Given the description of an element on the screen output the (x, y) to click on. 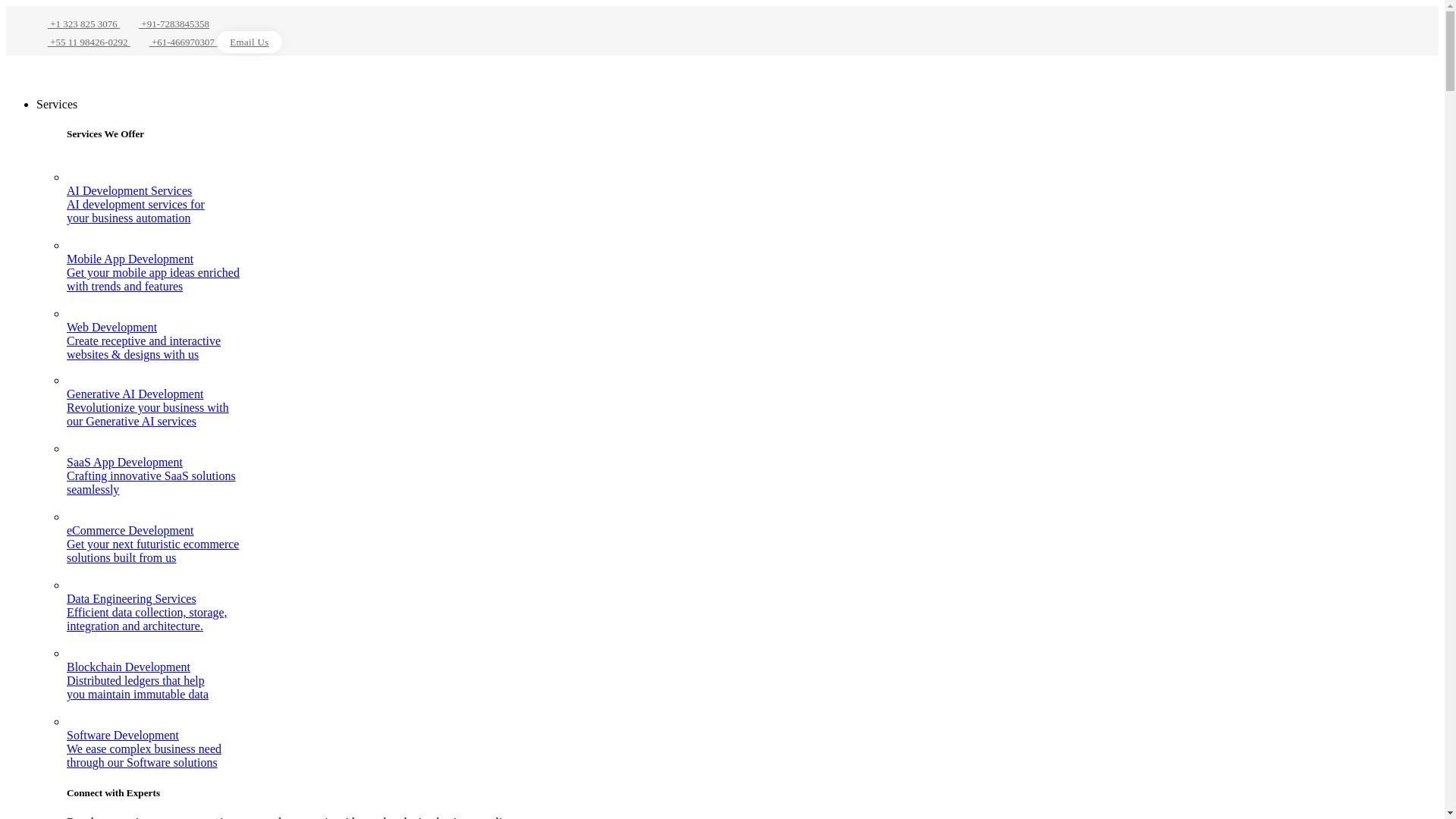
Services (56, 103)
Email Us (248, 42)
